Given the description of an element on the screen output the (x, y) to click on. 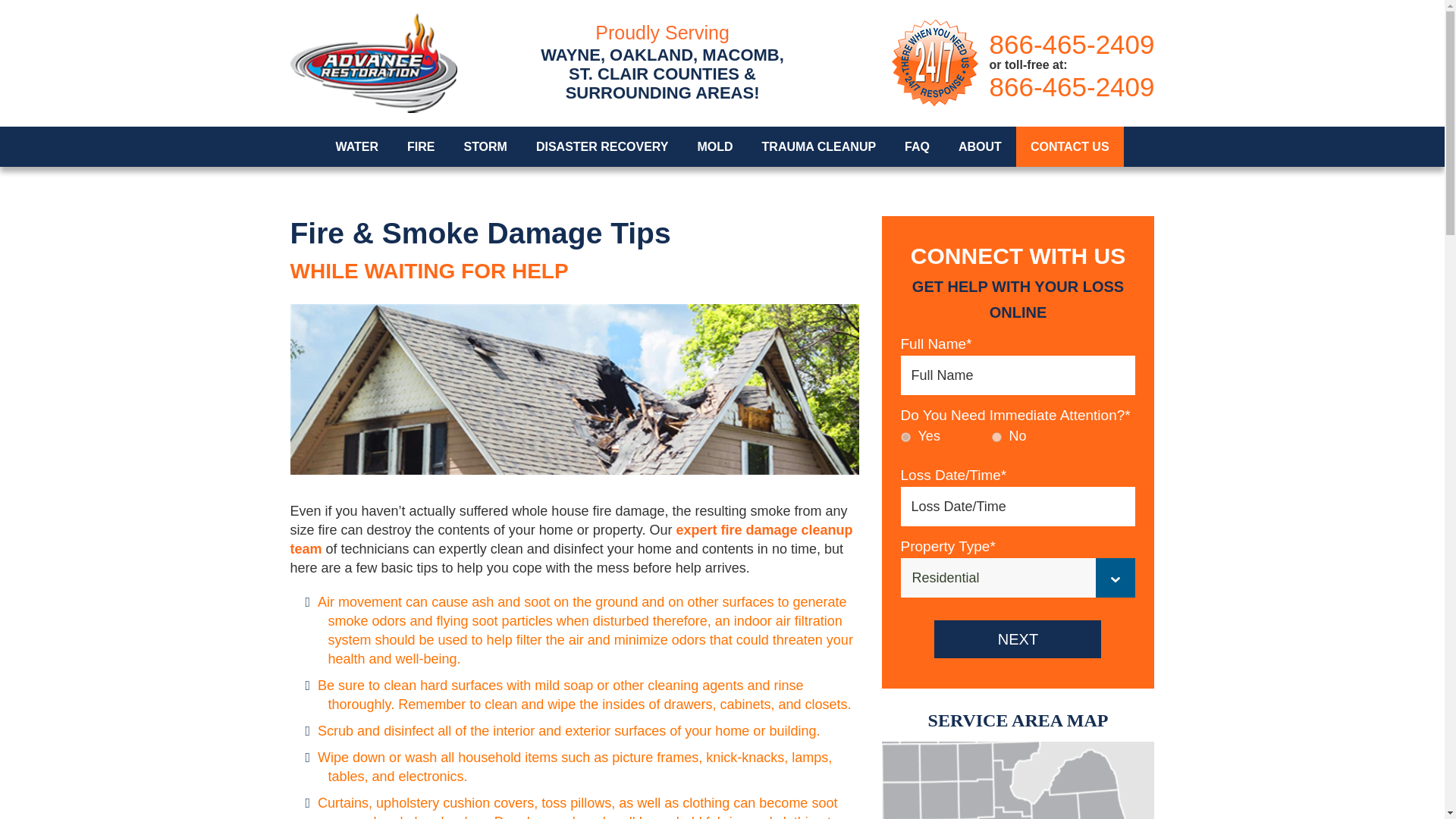
STORM (484, 146)
TRAUMA CLEANUP (819, 146)
FIRE (420, 146)
yes (906, 437)
DISASTER RECOVERY (601, 146)
WATER (356, 146)
866-465-2409 (1072, 86)
MOLD (714, 146)
866-465-2409 (1072, 43)
Next (1017, 638)
